Given the description of an element on the screen output the (x, y) to click on. 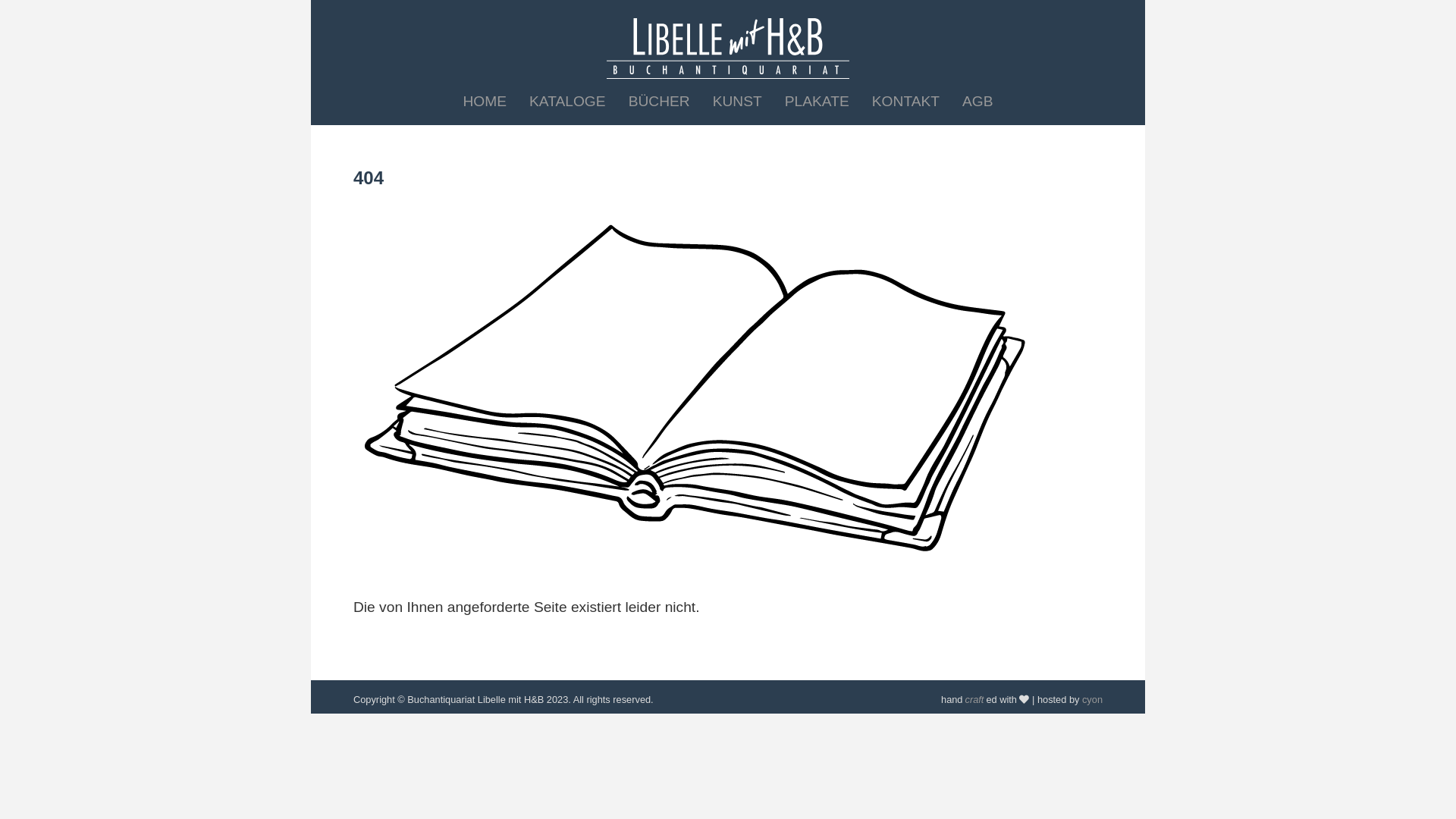
HOME Element type: text (484, 101)
KONTAKT Element type: text (905, 101)
KATALOGE Element type: text (567, 101)
craft Element type: text (973, 699)
cyon Element type: text (1092, 699)
KUNST Element type: text (736, 101)
AGB Element type: text (977, 101)
PLAKATE Element type: text (817, 101)
